Given the description of an element on the screen output the (x, y) to click on. 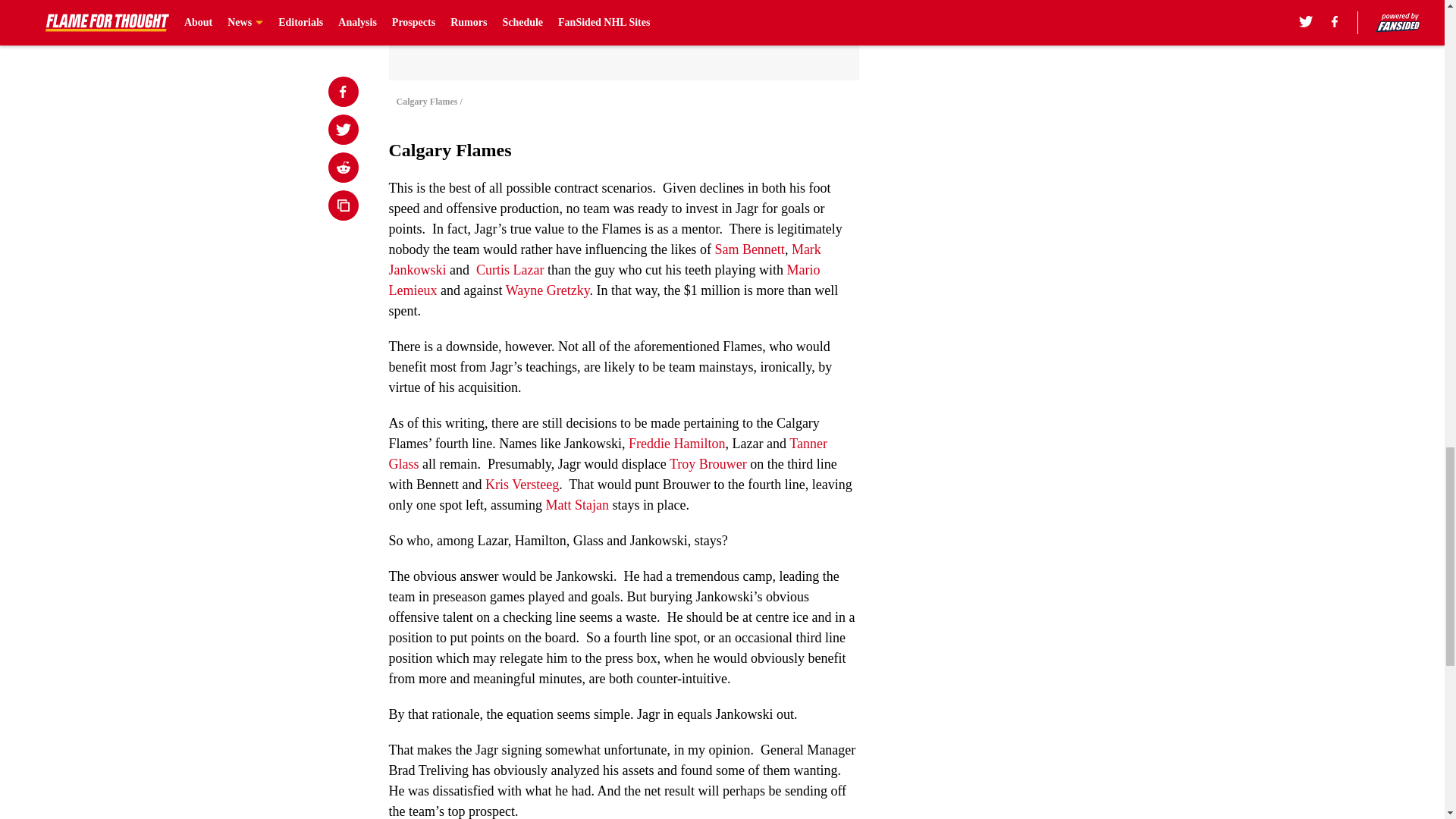
Mark Jankowski (604, 259)
Kris Versteeg (521, 484)
Troy Brouwe (705, 463)
Tanner Glass (607, 453)
Sam Bennett (749, 249)
Matt Stajan (576, 504)
Mario Lemieux (603, 280)
Freddie Hamilton (676, 443)
Wayne Gretzky (547, 290)
Curtis Lazar (509, 269)
